Given the description of an element on the screen output the (x, y) to click on. 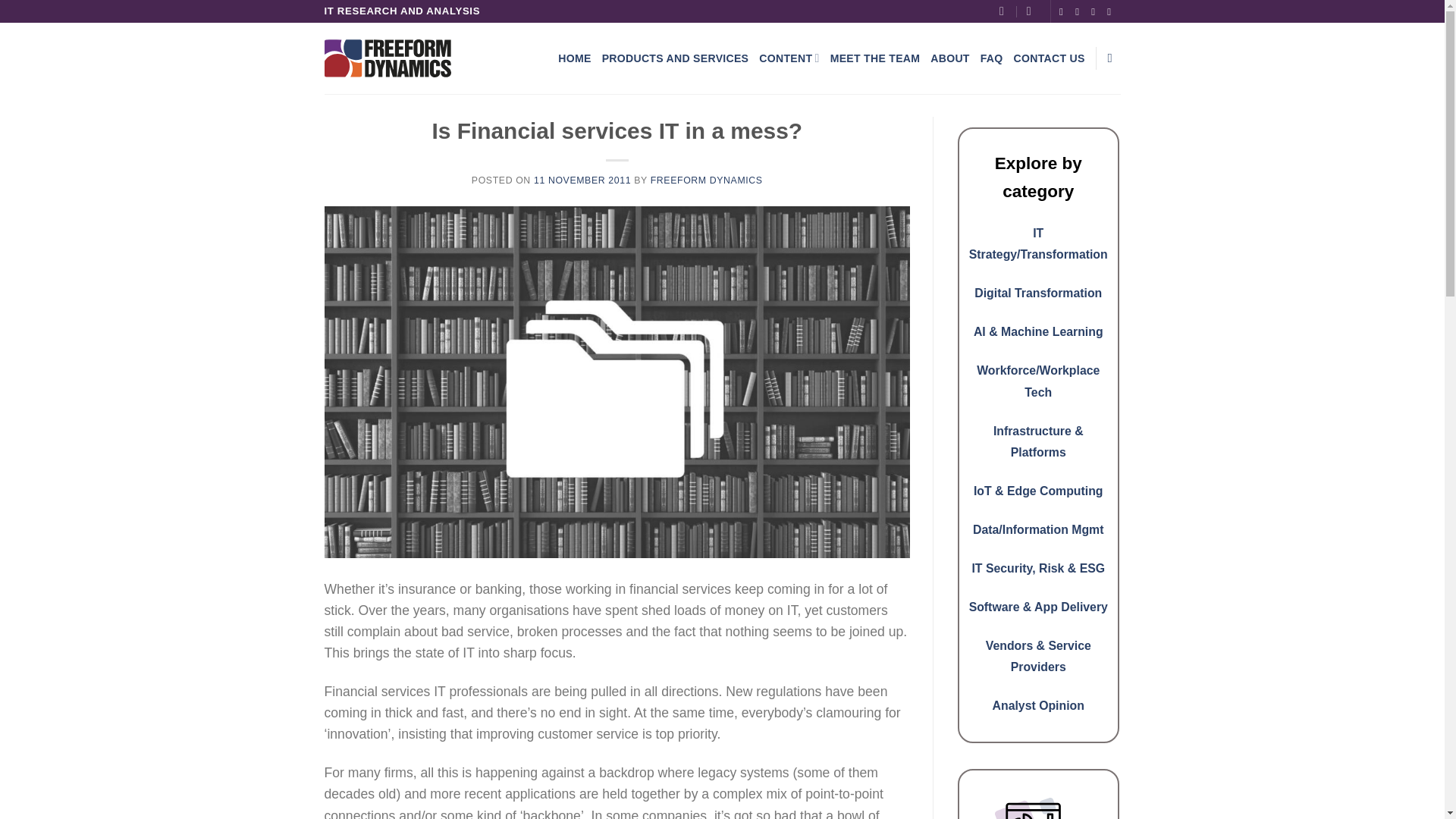
Freeform Dynamics - IT Research and Analysis (387, 57)
HOME (574, 58)
ABOUT (949, 58)
CONTENT (788, 57)
PRODUCTS AND SERVICES (675, 58)
FREEFORM DYNAMICS (706, 180)
11 NOVEMBER 2011 (582, 180)
MEET THE TEAM (874, 58)
CONTACT US (1048, 58)
